Given the description of an element on the screen output the (x, y) to click on. 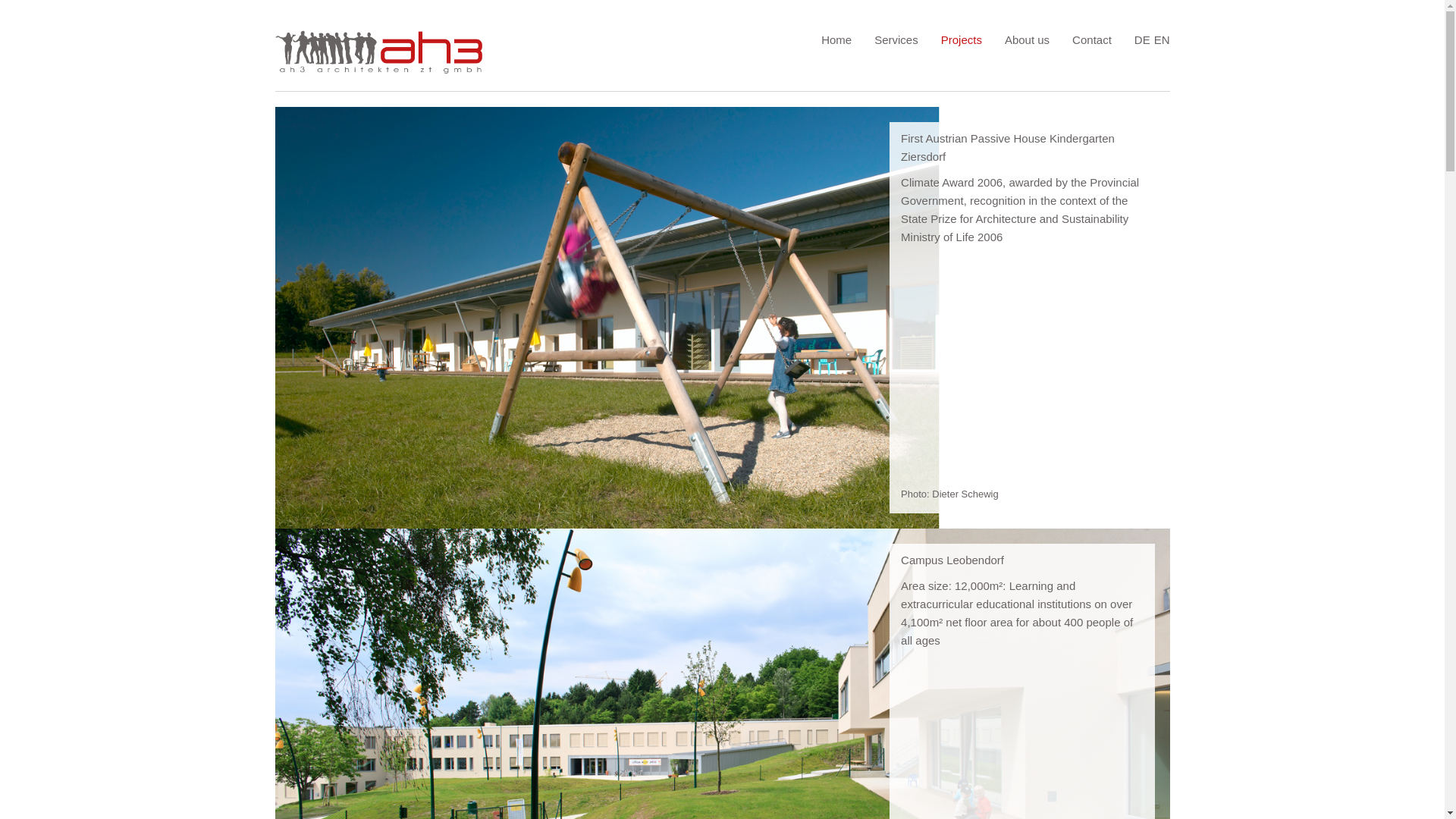
ah3 Architekten - ah3 Architekten ZT GmbH (380, 53)
Home (836, 39)
ah3 Architekten (836, 39)
DE (1142, 39)
Services (896, 39)
About us (1026, 39)
Contact (1091, 39)
Projects (961, 39)
